Given the description of an element on the screen output the (x, y) to click on. 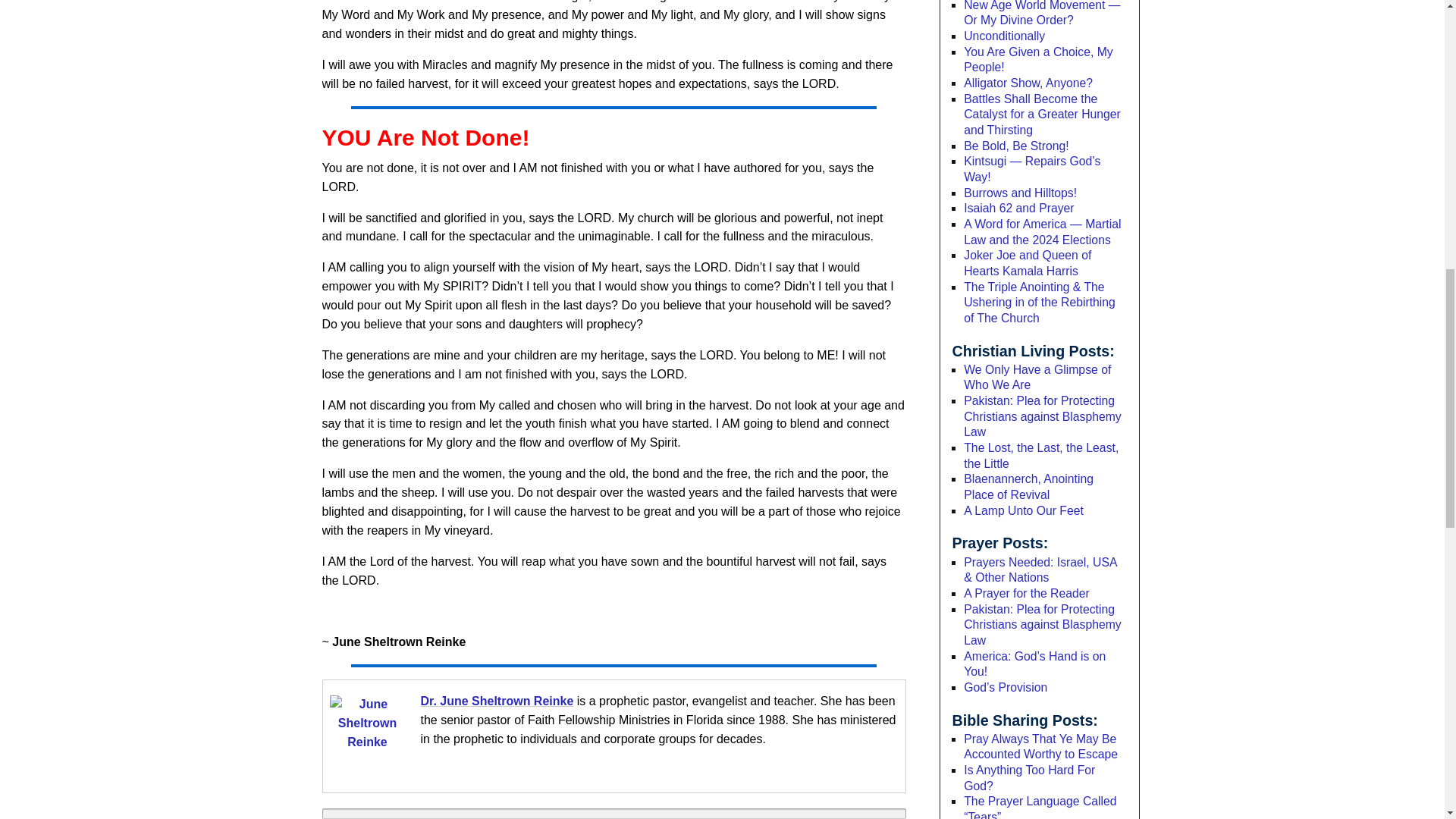
Link to June Sheltrown Reinke's Website (496, 700)
June Sheltrown Reinkek (366, 733)
